Given the description of an element on the screen output the (x, y) to click on. 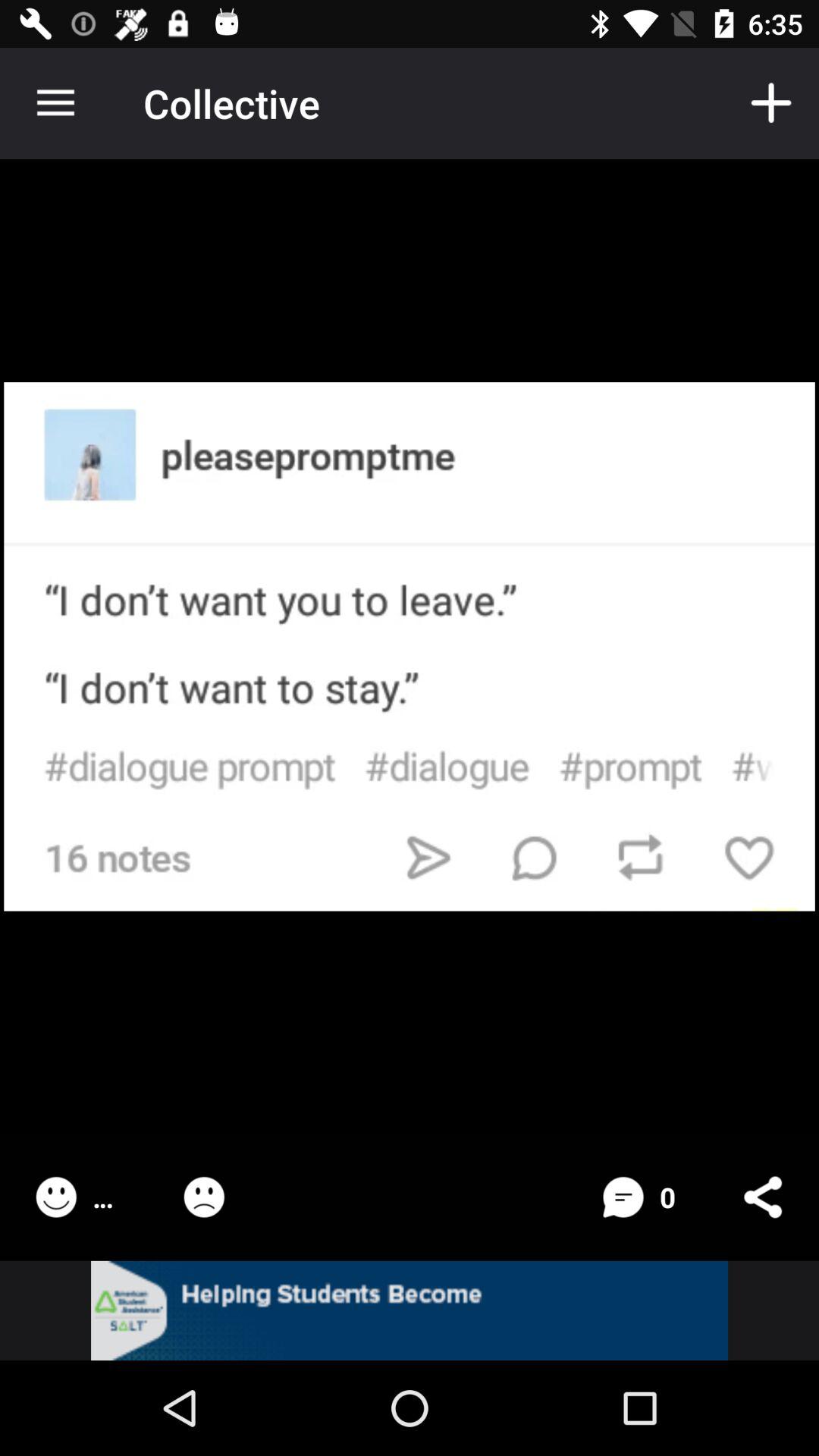
advertisement bar (409, 1310)
